Given the description of an element on the screen output the (x, y) to click on. 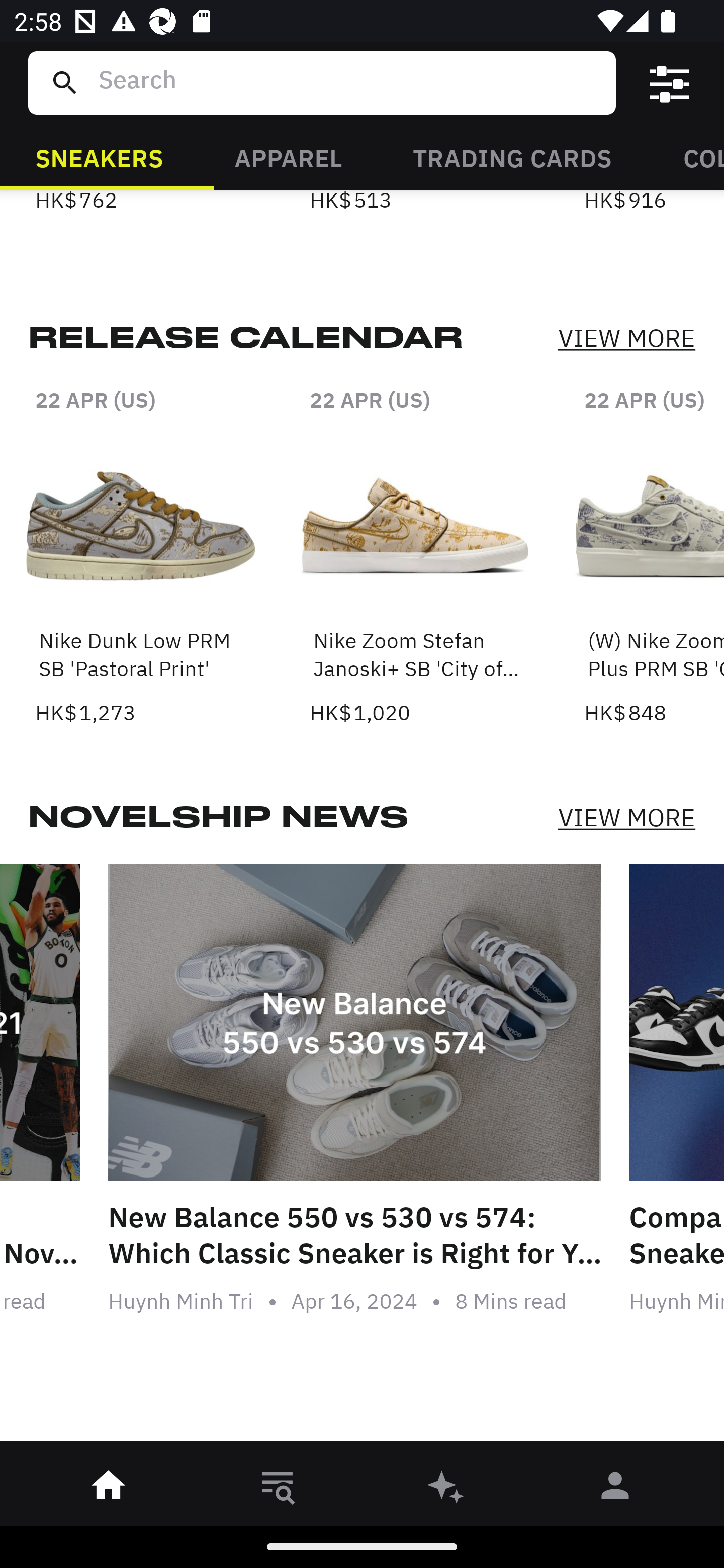
Search (349, 82)
 (669, 82)
SNEAKERS (99, 156)
APPAREL (287, 156)
TRADING CARDS (512, 156)
VIEW MORE (626, 338)
VIEW MORE (626, 816)
󰋜 (108, 1488)
󱎸 (277, 1488)
󰫢 (446, 1488)
󰀄 (615, 1488)
